Given the description of an element on the screen output the (x, y) to click on. 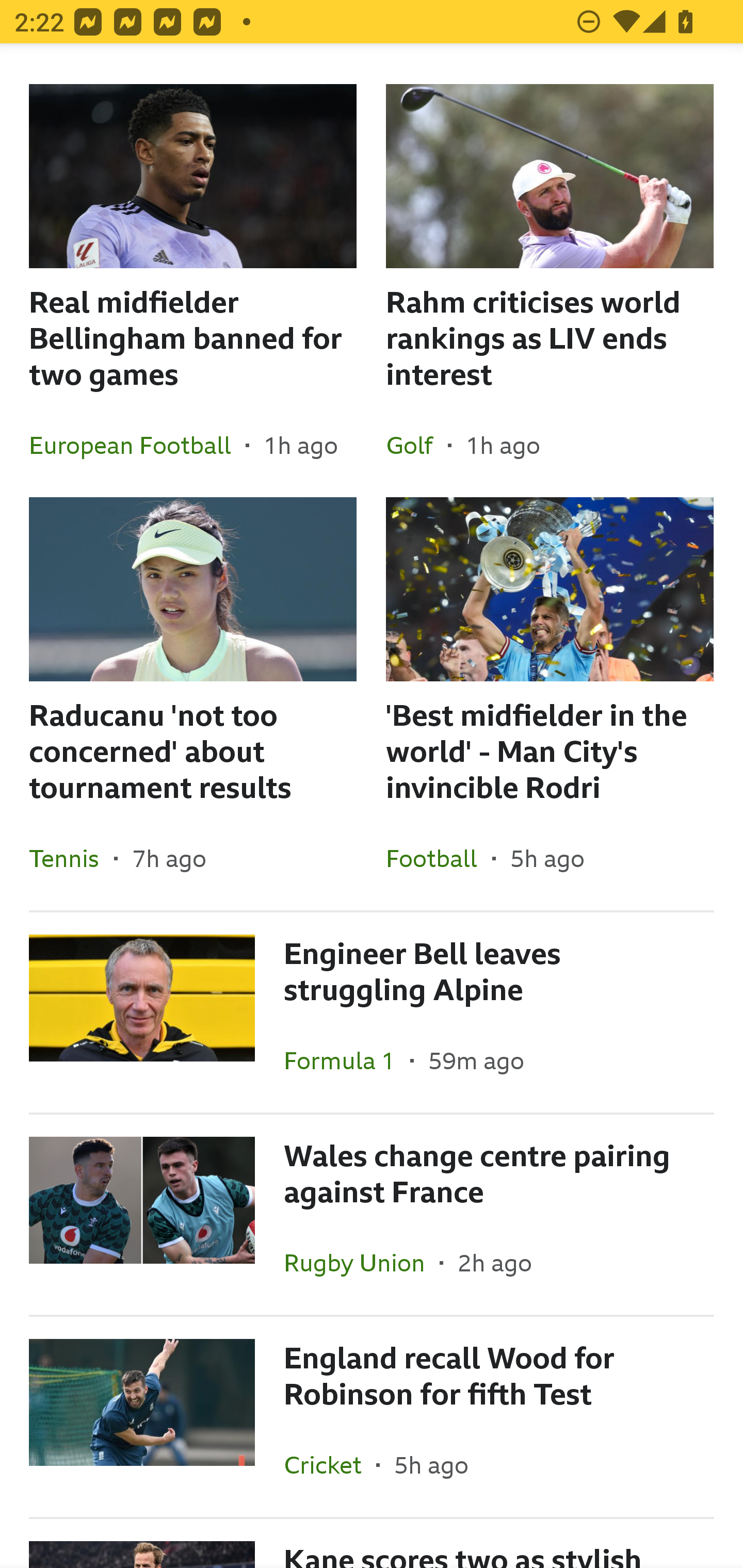
European Football In the section European Football (136, 445)
Golf In the section Golf (416, 445)
Tennis In the section Tennis (70, 858)
Football In the section Football (438, 858)
Formula 1 In the section Formula 1 (346, 1060)
Rugby Union In the section Rugby Union (361, 1261)
Cricket In the section Cricket (329, 1464)
